Given the description of an element on the screen output the (x, y) to click on. 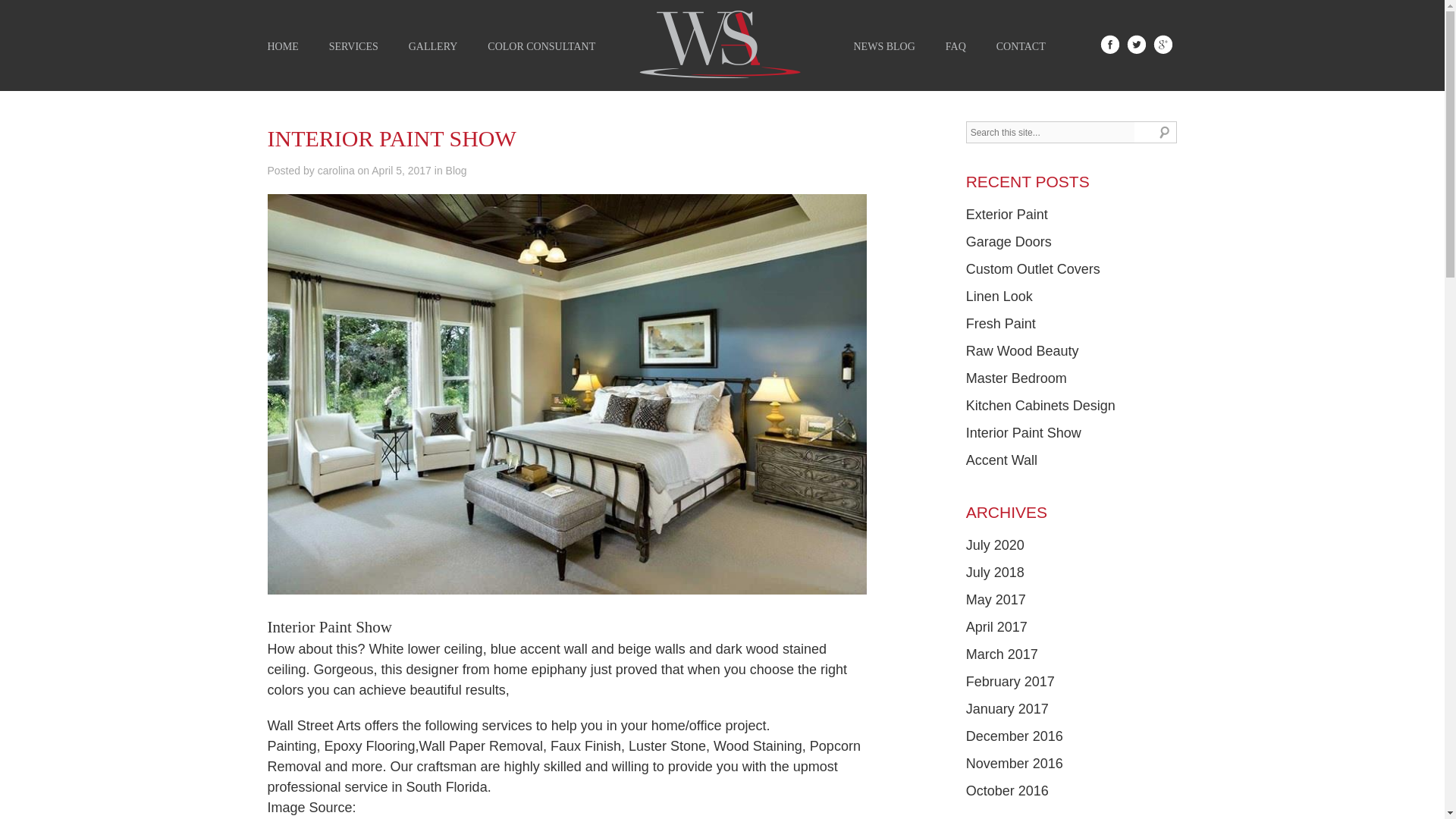
FAQ (955, 46)
Custom Outlet Covers (1033, 268)
SERVICES (353, 46)
Blog (456, 170)
COLOR CONSULTANT (541, 46)
Linen Look (999, 296)
Master Bedroom (1016, 378)
CONTACT (1020, 46)
Fresh Paint (1000, 323)
GALLERY (433, 46)
Interior Paint Show (1023, 432)
Kitchen Cabinets Design (1040, 405)
HOME (282, 46)
NEWS BLOG (884, 46)
carolina (336, 170)
